Given the description of an element on the screen output the (x, y) to click on. 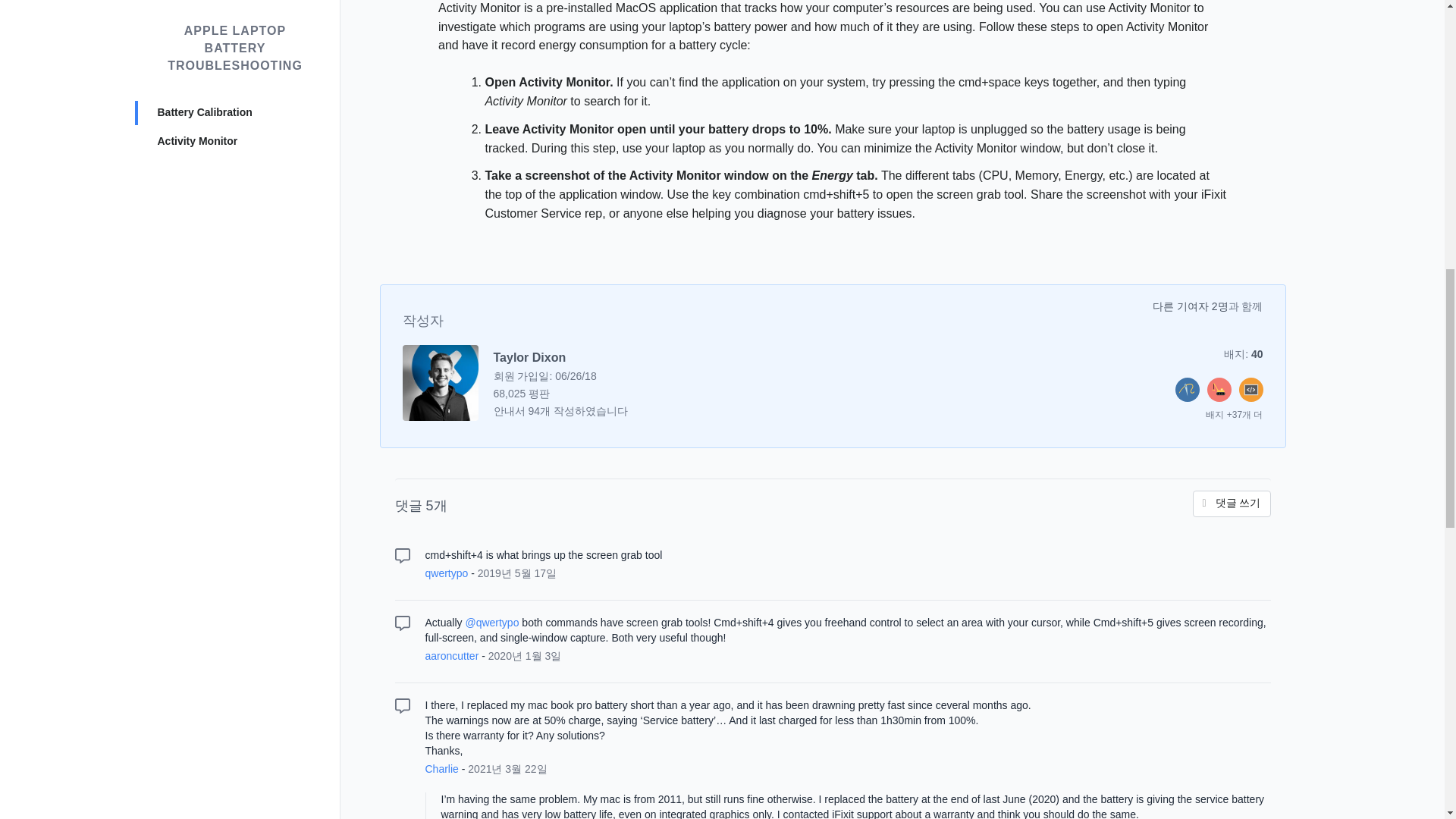
Fri, 17 May 2019 20:24:05 -0700 (516, 573)
Mon, 22 Mar 2021 07:51:53 -0700 (507, 768)
Taylor Dixon (529, 357)
Fri, 03 Jan 2020 23:21:30 -0700 (524, 655)
